Given the description of an element on the screen output the (x, y) to click on. 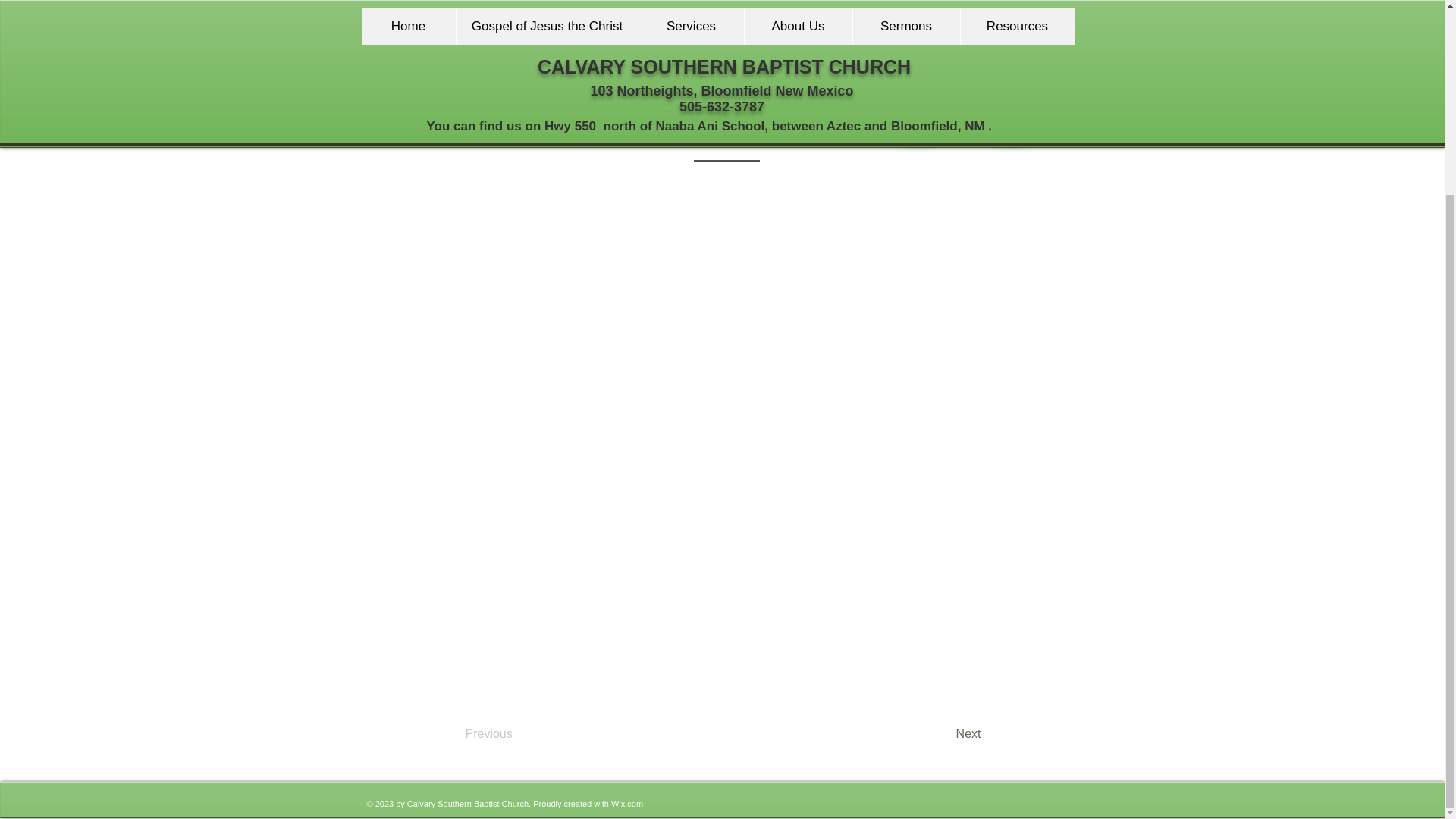
Next (943, 734)
7-5-22 The Power of the Holy Spirit.png (469, 59)
Previous (515, 734)
Wix.com (627, 802)
Click to Listen (963, 127)
